Given the description of an element on the screen output the (x, y) to click on. 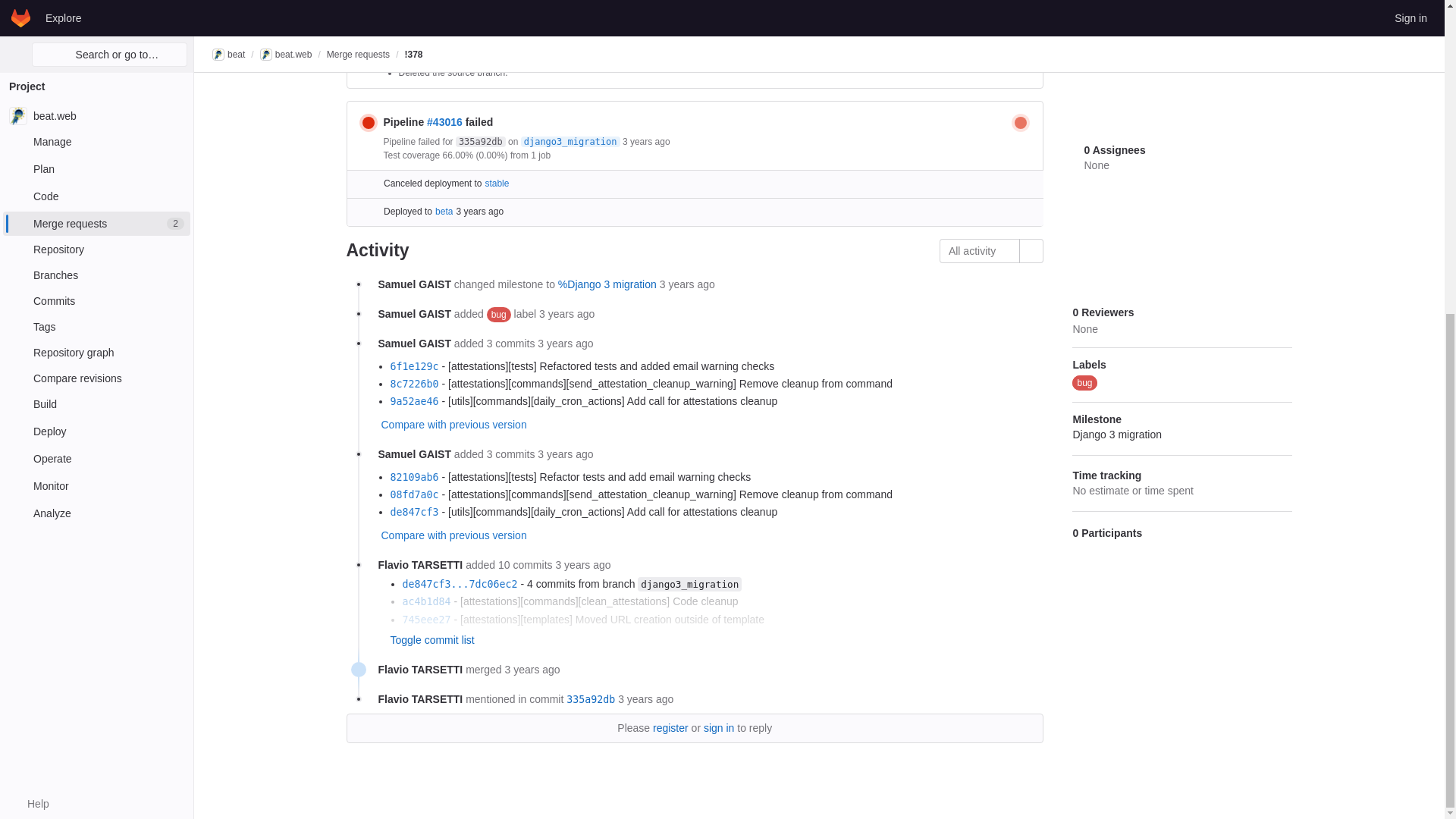
Analyze (96, 12)
